Given the description of an element on the screen output the (x, y) to click on. 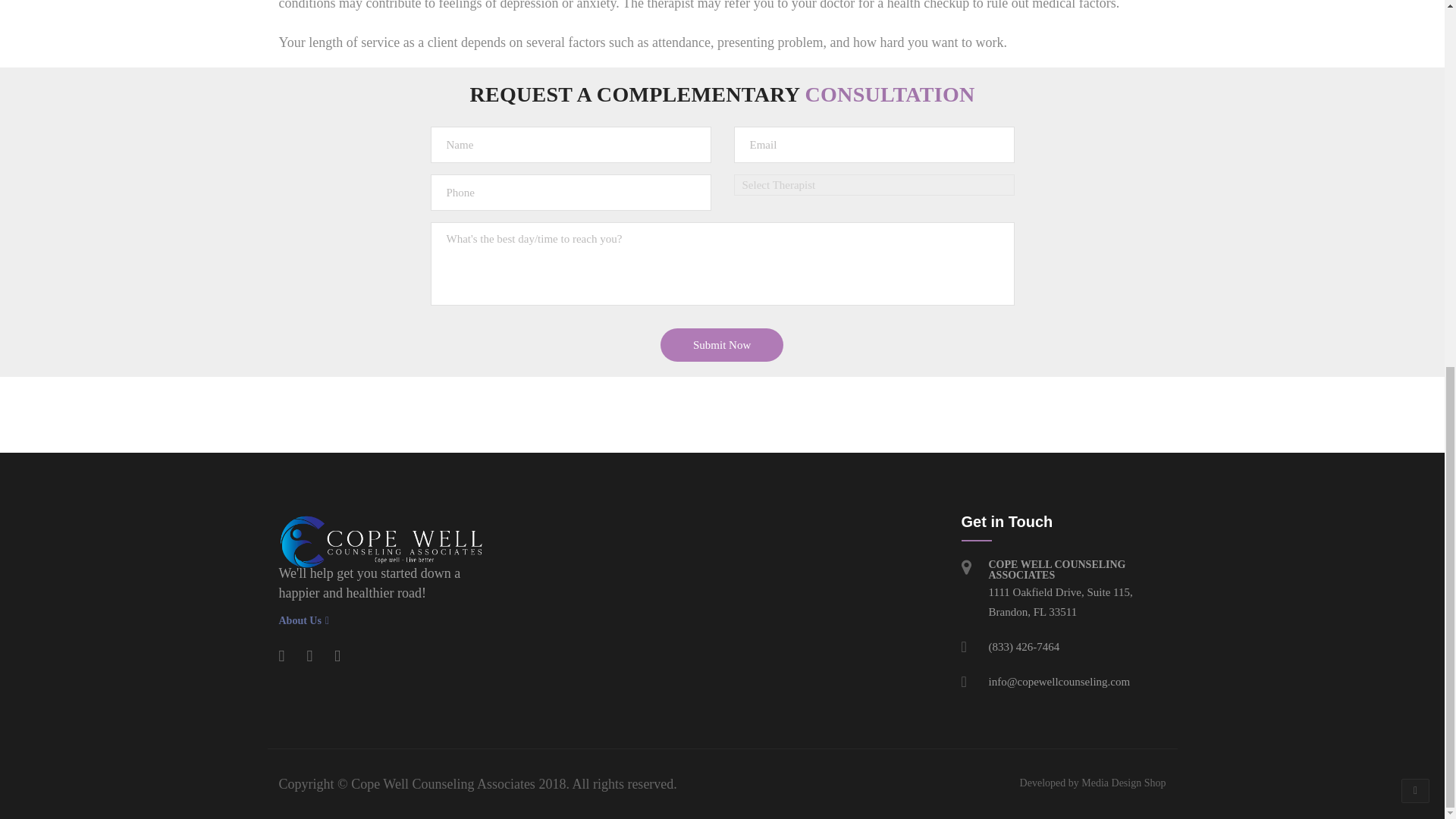
Submit Now (722, 344)
Developed by Media Design Shop (1093, 782)
About Us (381, 621)
